Given the description of an element on the screen output the (x, y) to click on. 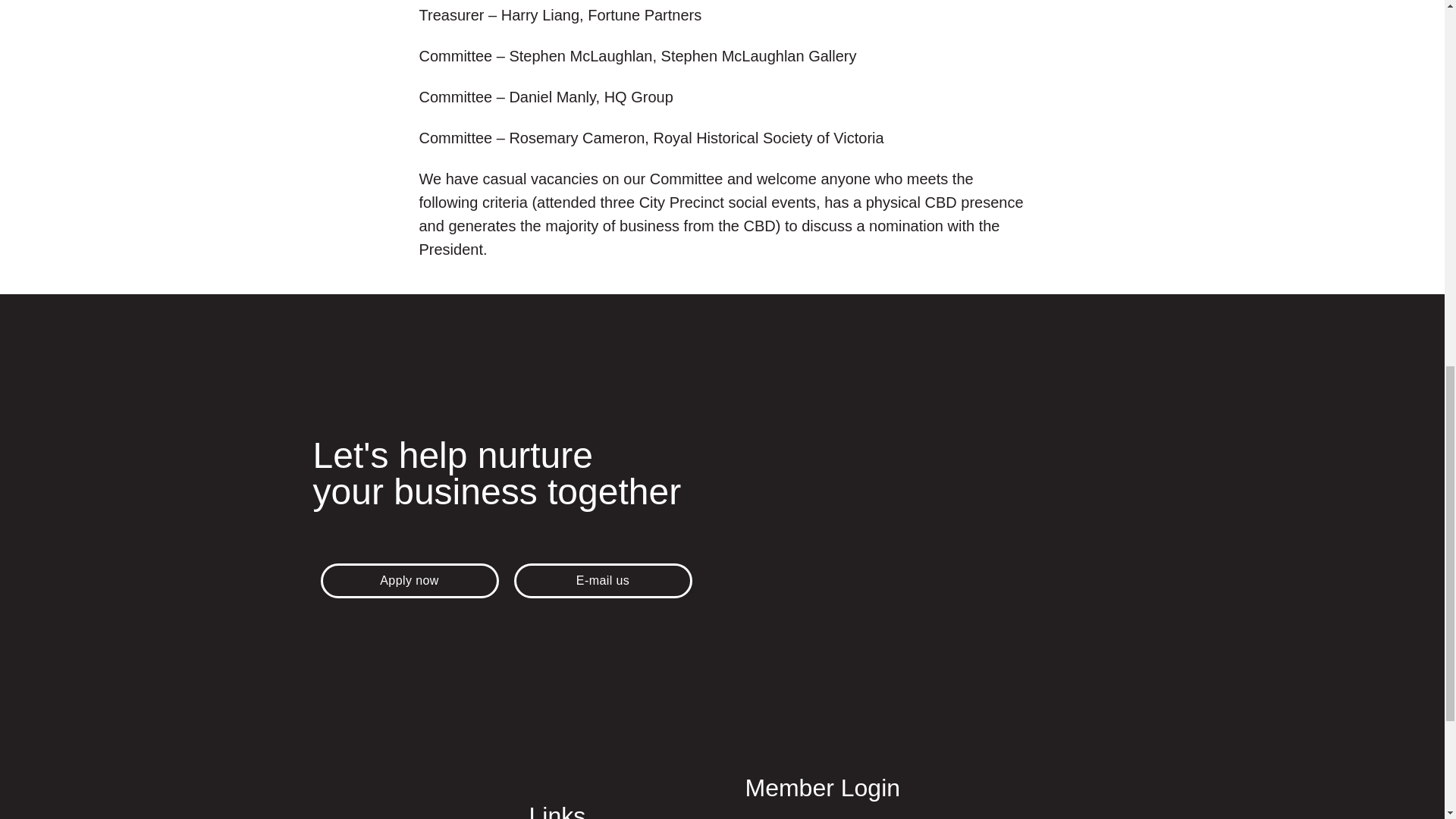
Apply now (408, 580)
E-mail us (603, 580)
